Given the description of an element on the screen output the (x, y) to click on. 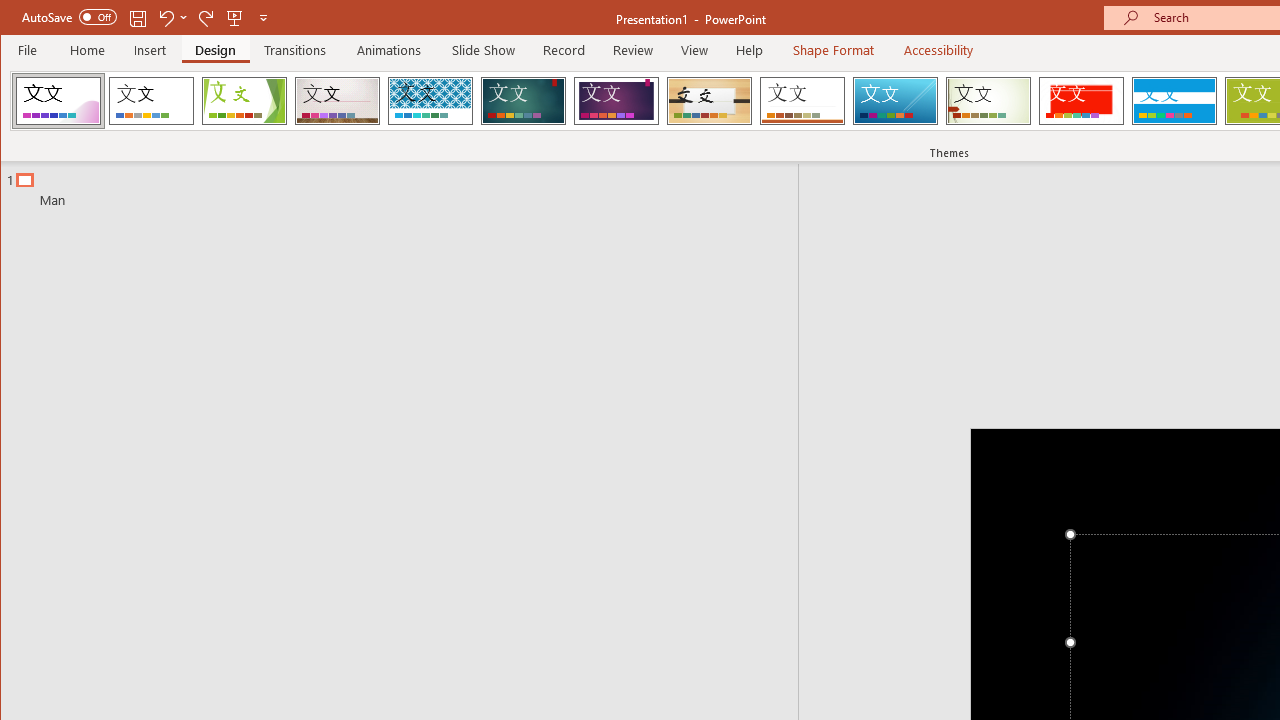
Banded (1174, 100)
Ion (523, 100)
